Given the description of an element on the screen output the (x, y) to click on. 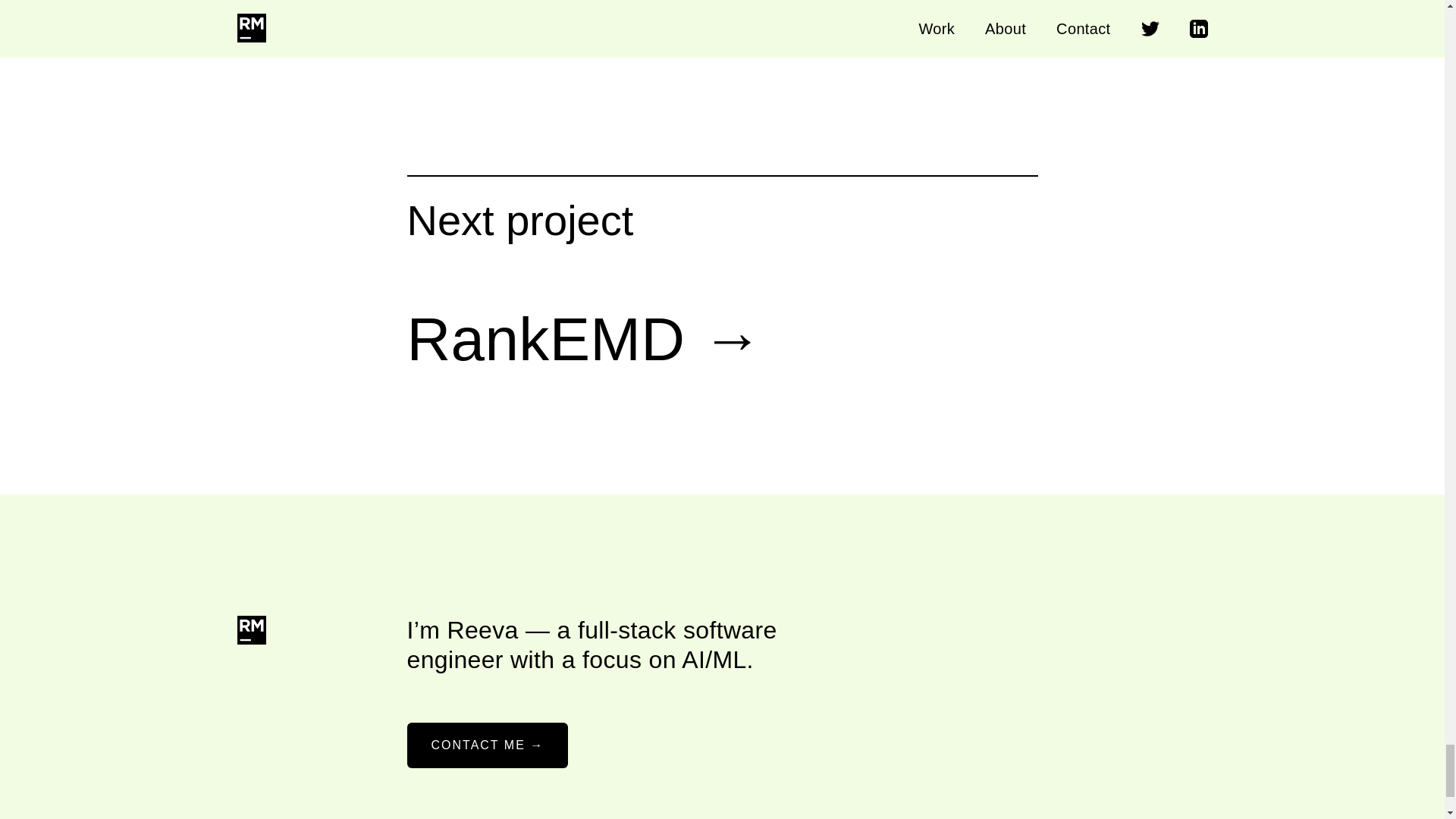
RM-logo-default (249, 629)
RM-logo-default (249, 630)
